Given the description of an element on the screen output the (x, y) to click on. 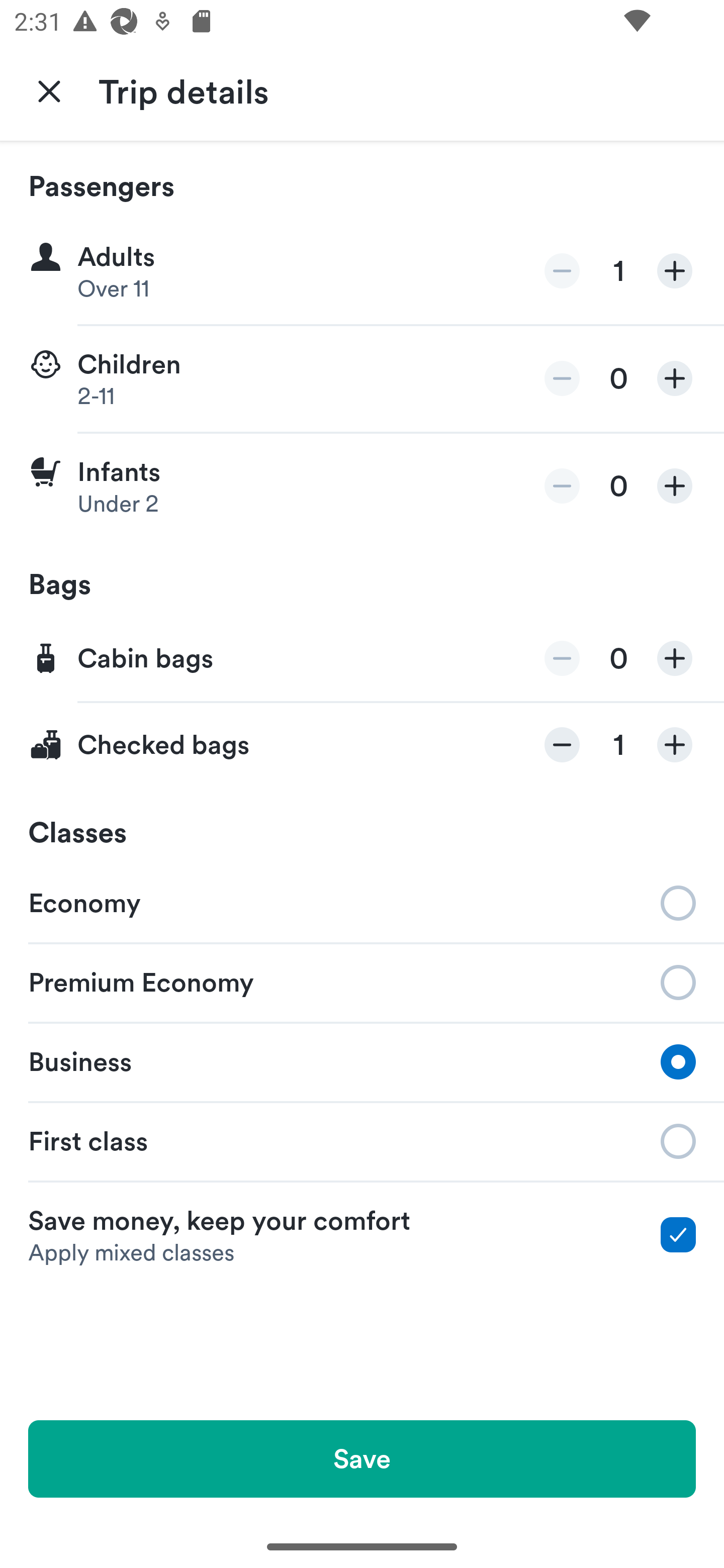
Navigate up (49, 90)
Remove 1 Add Adults Over 11 (362, 271)
Remove (561, 270)
Add (674, 270)
Remove 0 Add Children 2-11 (362, 379)
Remove (561, 377)
Add (674, 377)
Remove 0 Add Infants Under 2 (362, 485)
Remove (561, 485)
Add (674, 485)
Remove 0 Add Cabin bags (362, 659)
Remove (561, 658)
Add (674, 658)
Remove 1 Add Checked bags (362, 744)
Remove (561, 744)
Add (674, 744)
Economy (362, 901)
Premium Economy (362, 980)
First class (362, 1141)
Save (361, 1458)
